Given the description of an element on the screen output the (x, y) to click on. 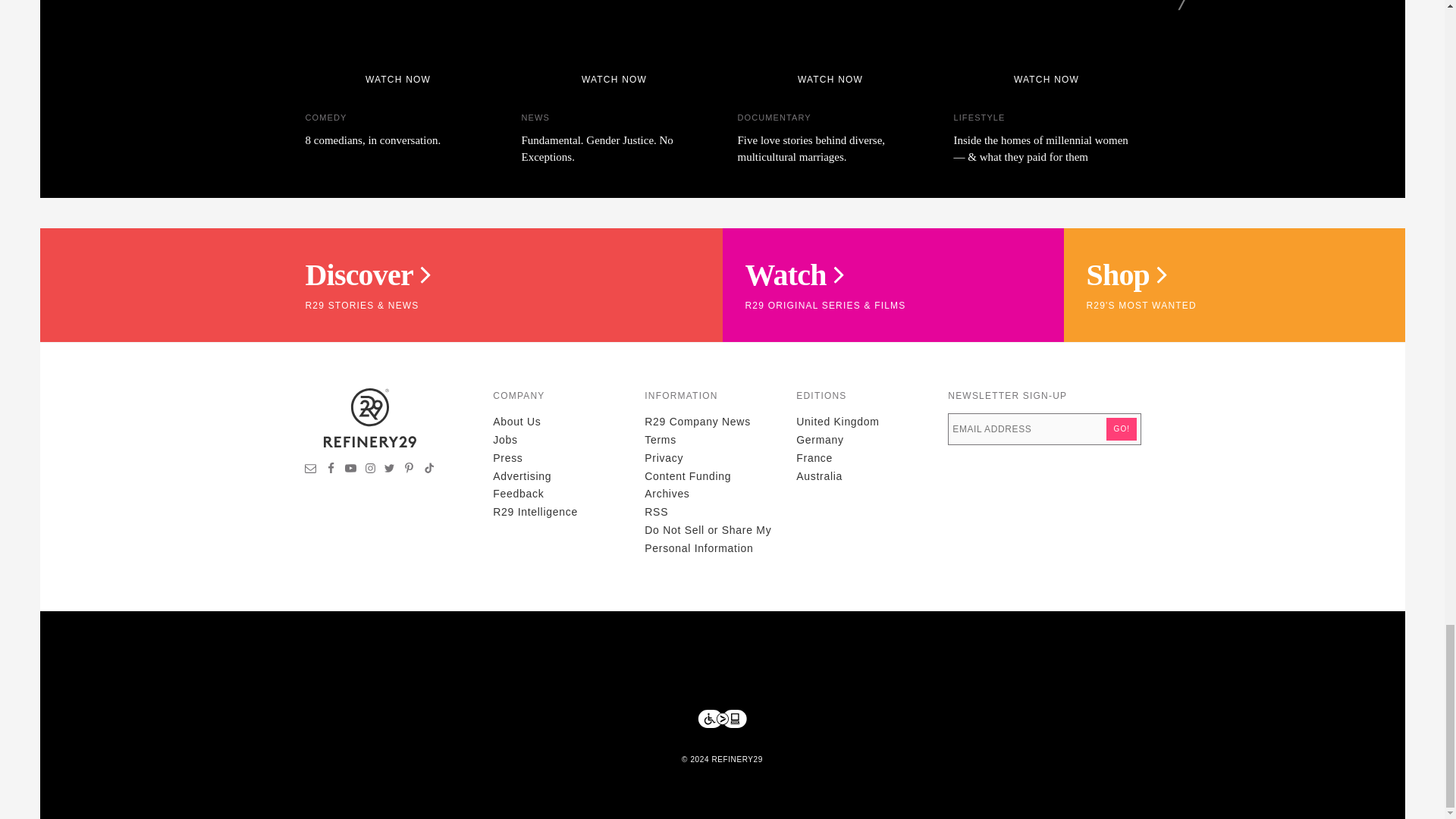
Visit Refinery29 on YouTube (350, 469)
Sign up for newsletters (310, 469)
Next (1184, 5)
